Given the description of an element on the screen output the (x, y) to click on. 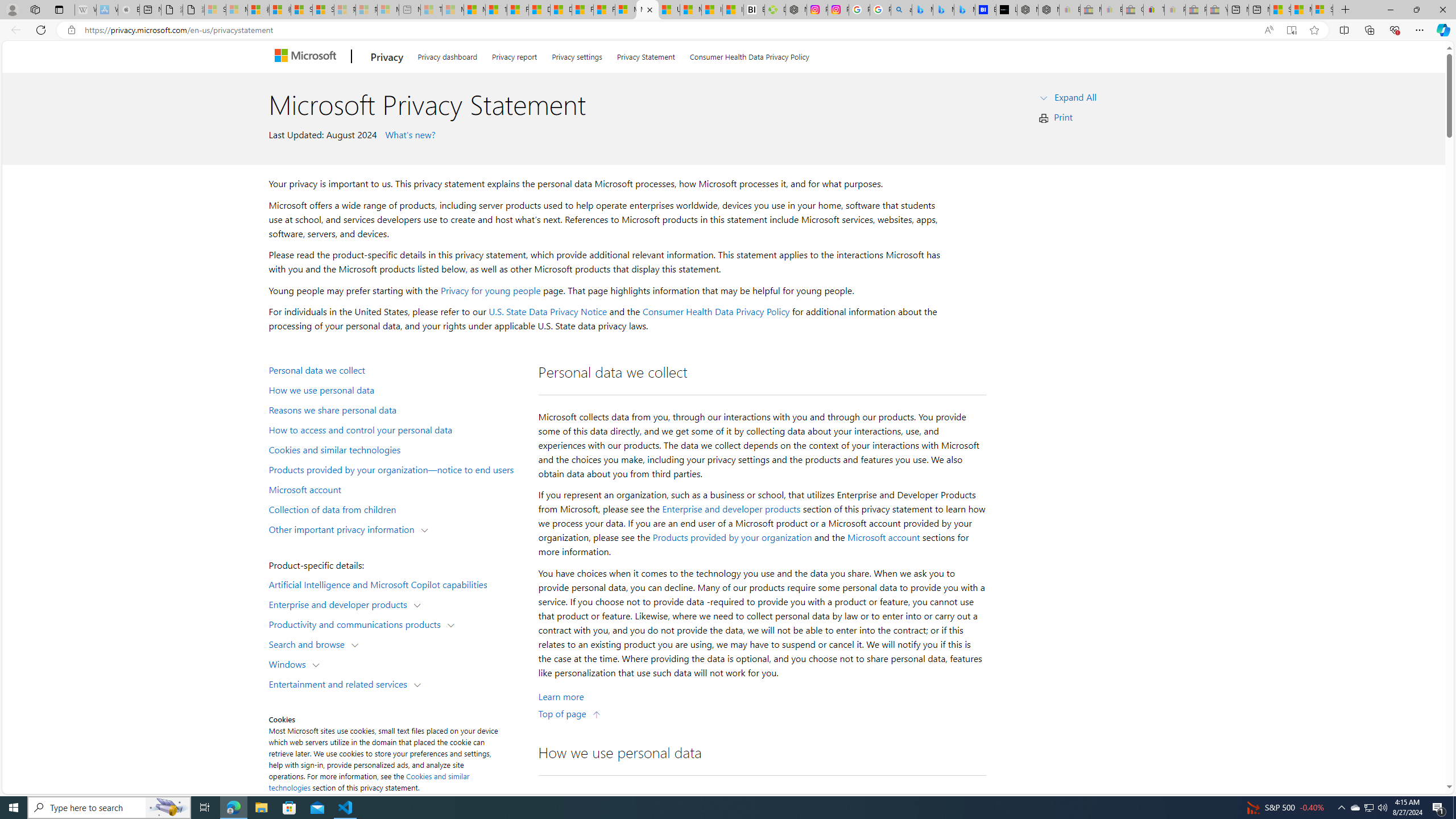
Learn More about Personal data we collect (560, 696)
Marine life - MSN - Sleeping (452, 9)
Food and Drink - MSN (517, 9)
Privacy Statement (645, 54)
Descarga Driver Updater (775, 9)
Sign in to your Microsoft account (1322, 9)
Microsoft account (395, 488)
Collection of data from children (395, 508)
 What's new? (408, 133)
Other important privacy information (343, 528)
